Given the description of an element on the screen output the (x, y) to click on. 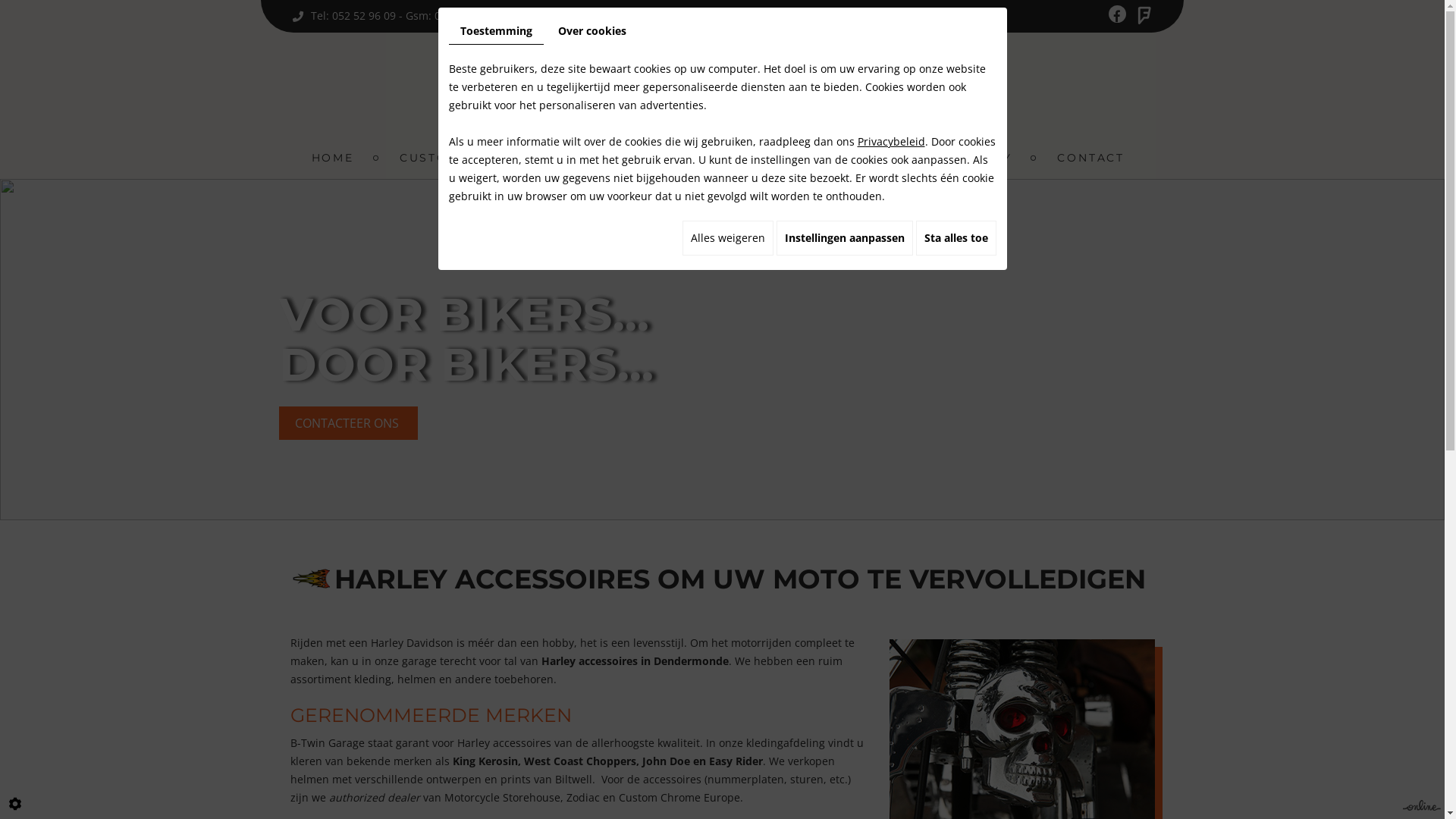
Instellingen aanpassen Element type: text (844, 237)
ACCESSOIRIES Element type: text (695, 158)
Over cookies Element type: text (591, 30)
Cookie-instelling bewerken Element type: text (14, 803)
CUSTOMIZING Element type: text (449, 158)
SECOND-HAND Element type: text (847, 158)
CONTACT Element type: text (1090, 158)
CONTACTEER ONS  Element type: text (348, 422)
B-Twin Garage - Harley Davidson  Element type: hover (722, 94)
REPAIR Element type: text (571, 158)
Privacybeleid Element type: text (890, 141)
Sta alles toe Element type: text (956, 237)
Alles weigeren Element type: text (727, 237)
Toestemming Element type: text (495, 31)
HOME Element type: text (331, 158)
GALLERY Element type: text (979, 158)
